Given the description of an element on the screen output the (x, y) to click on. 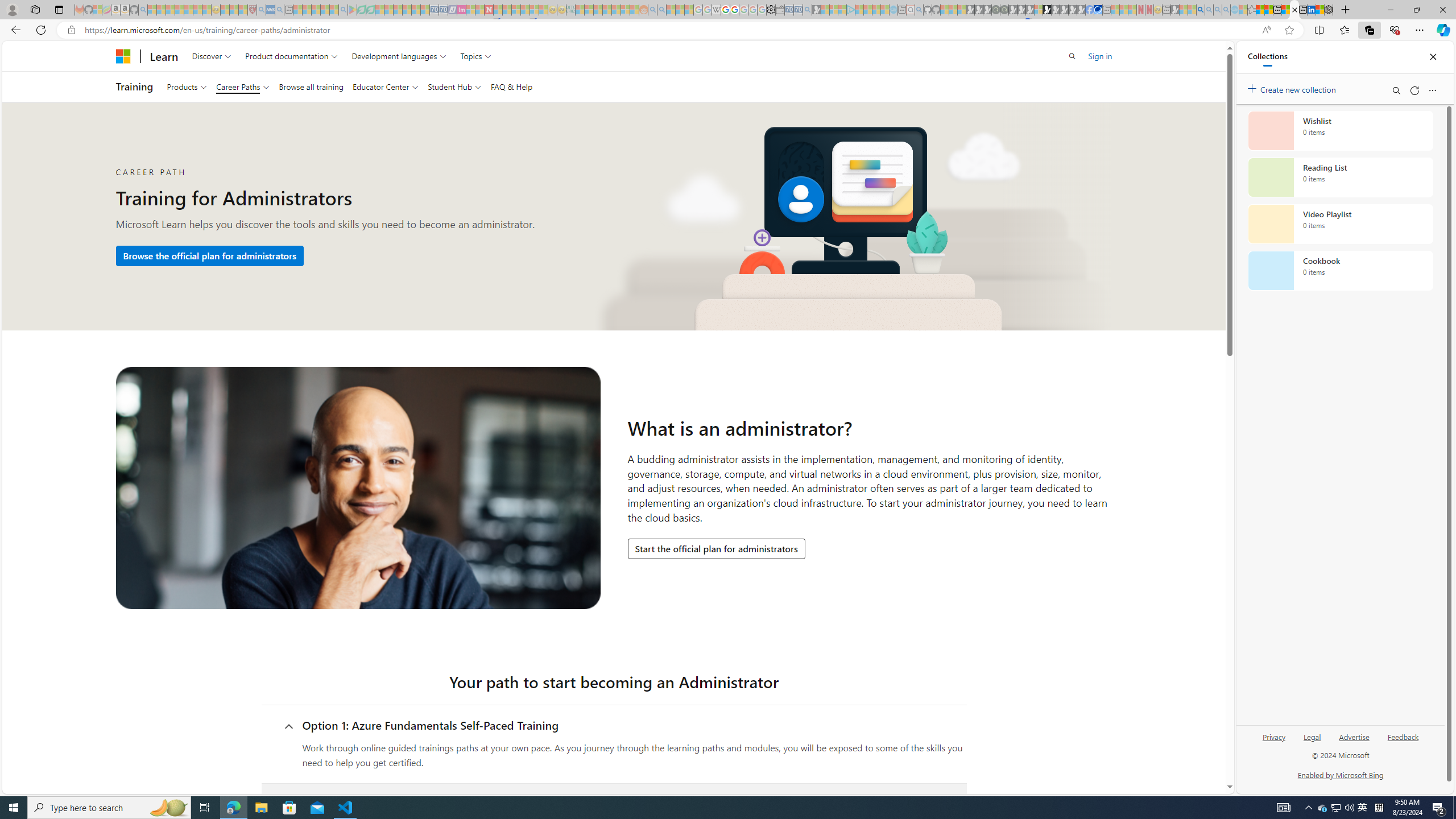
Product documentation (291, 55)
More options menu (1432, 90)
Training (133, 86)
MSN - Sleeping (1174, 9)
Learn (164, 56)
